Given the description of an element on the screen output the (x, y) to click on. 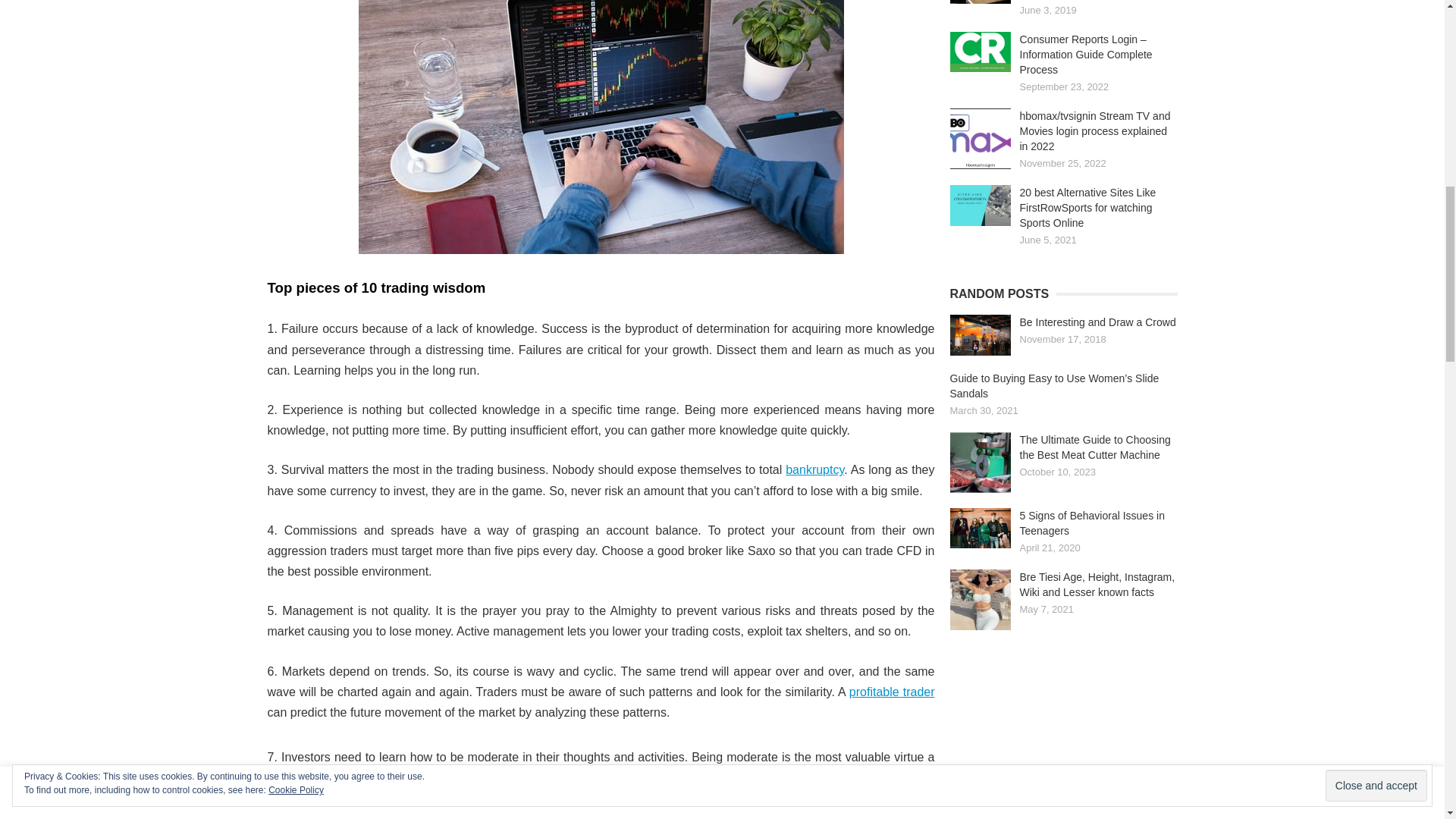
Trading Wisdom  (600, 126)
